Given the description of an element on the screen output the (x, y) to click on. 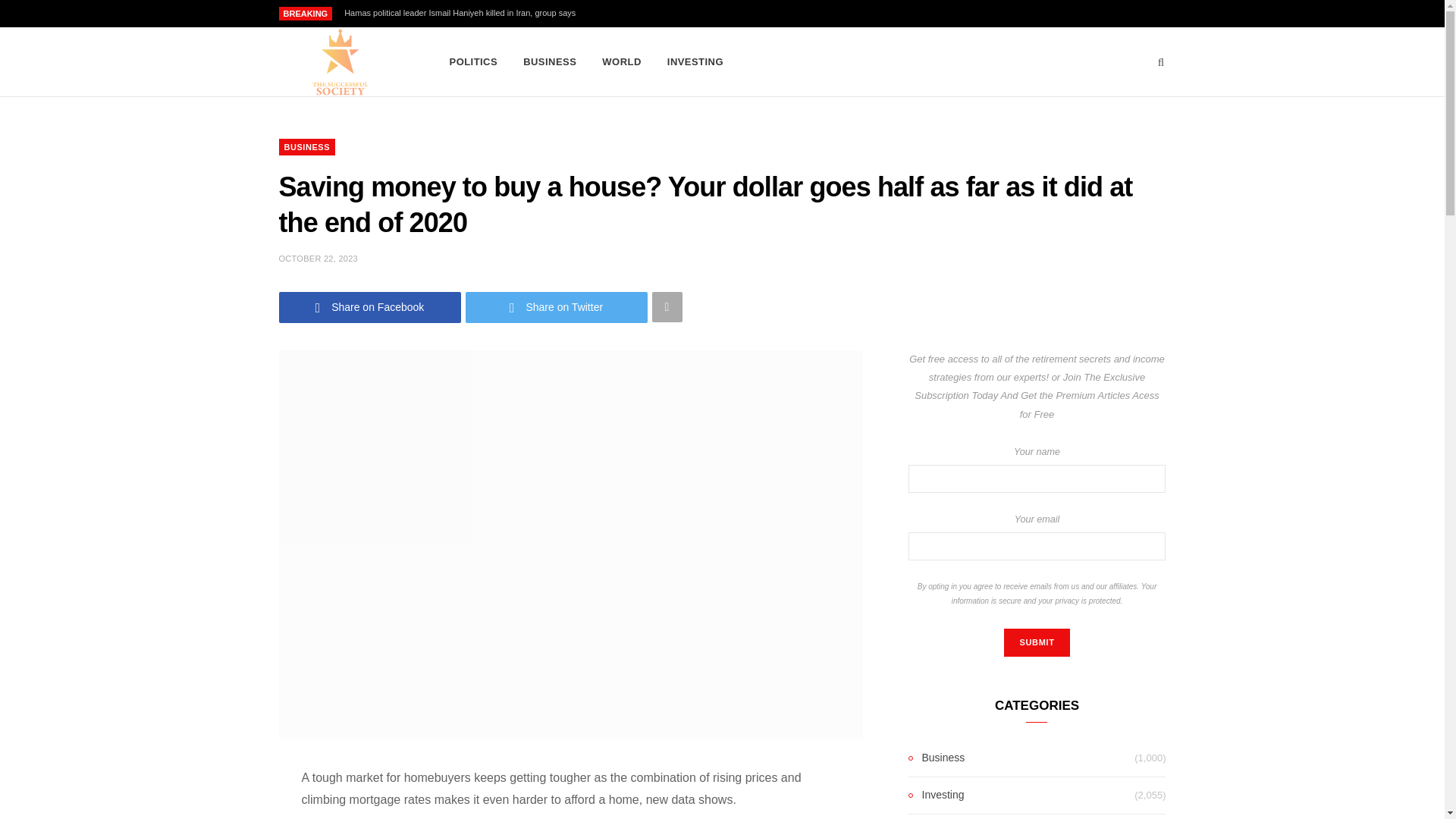
POLITICS (473, 61)
INVESTING (695, 61)
WORLD (621, 61)
The Successful Society (338, 61)
Submit (1036, 642)
Share on Facebook (370, 306)
OCTOBER 22, 2023 (318, 257)
Search (1161, 61)
Share on Twitter (556, 306)
Share on Twitter (556, 306)
BUSINESS (550, 61)
BUSINESS (307, 146)
Share on Facebook (370, 306)
